Given the description of an element on the screen output the (x, y) to click on. 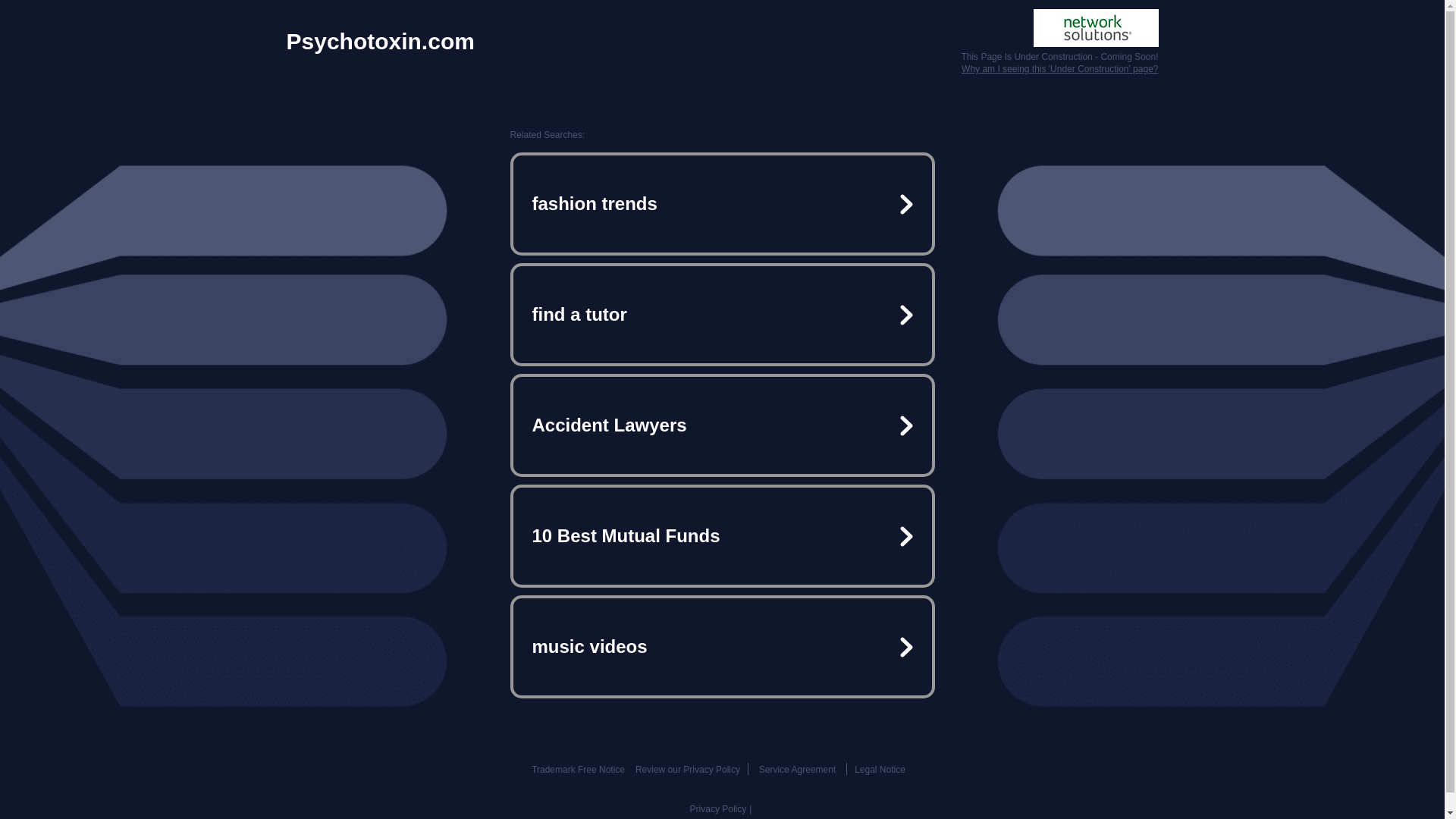
find a tutor (721, 314)
Review our Privacy Policy (686, 769)
music videos (721, 646)
music videos (721, 646)
Why am I seeing this 'Under Construction' page? (1058, 68)
fashion trends (721, 203)
Legal Notice (879, 769)
10 Best Mutual Funds (721, 535)
Accident Lawyers (721, 425)
Service Agreement (796, 769)
Accident Lawyers (721, 425)
Psychotoxin.com (380, 41)
fashion trends (721, 203)
find a tutor (721, 314)
Privacy Policy (718, 808)
